Given the description of an element on the screen output the (x, y) to click on. 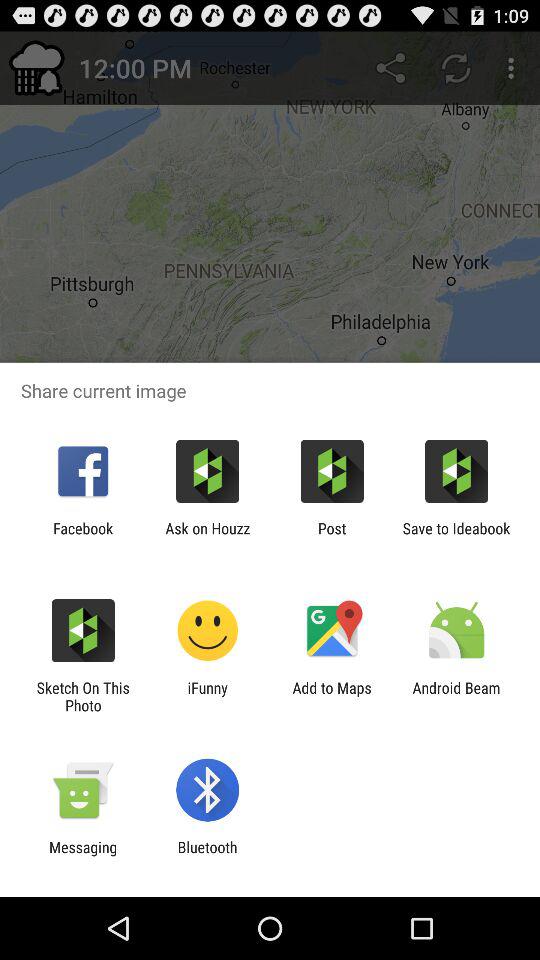
turn on the ifunny item (207, 696)
